Given the description of an element on the screen output the (x, y) to click on. 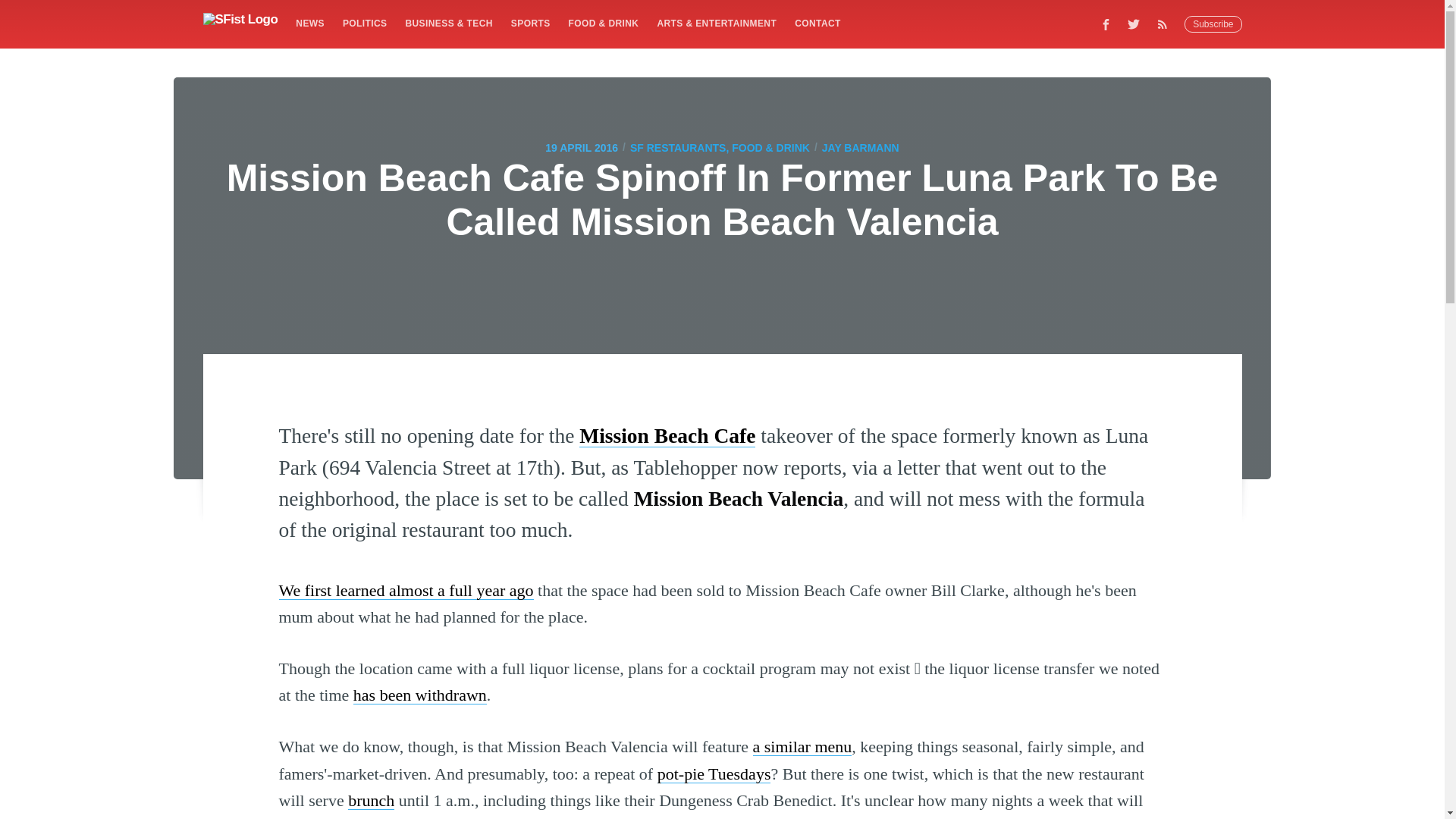
RSS (1166, 23)
pot-pie Tuesdays (714, 773)
Facebook (1106, 23)
has been withdrawn (419, 694)
JAY BARMANN (860, 147)
We first learned almost a full year ago (406, 589)
Twitter (1133, 23)
NEWS (309, 23)
CONTACT (818, 23)
POLITICS (364, 23)
